Given the description of an element on the screen output the (x, y) to click on. 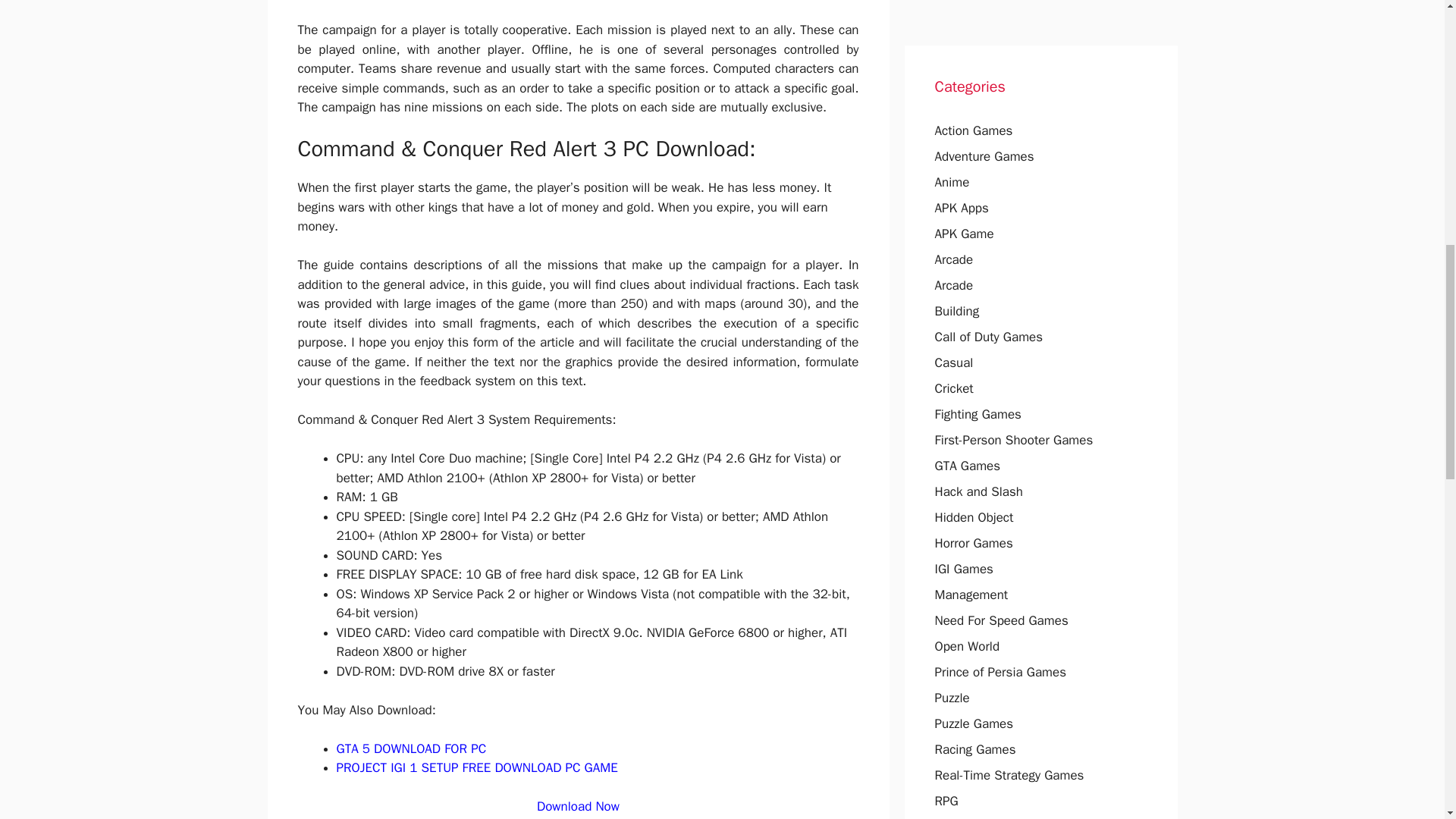
Download Now (578, 806)
Scroll back to top (1406, 720)
GTA 5 DOWNLOAD FOR PC (411, 748)
PROJECT IGI 1 SETUP FREE DOWNLOAD PC GAME (476, 767)
